Given the description of an element on the screen output the (x, y) to click on. 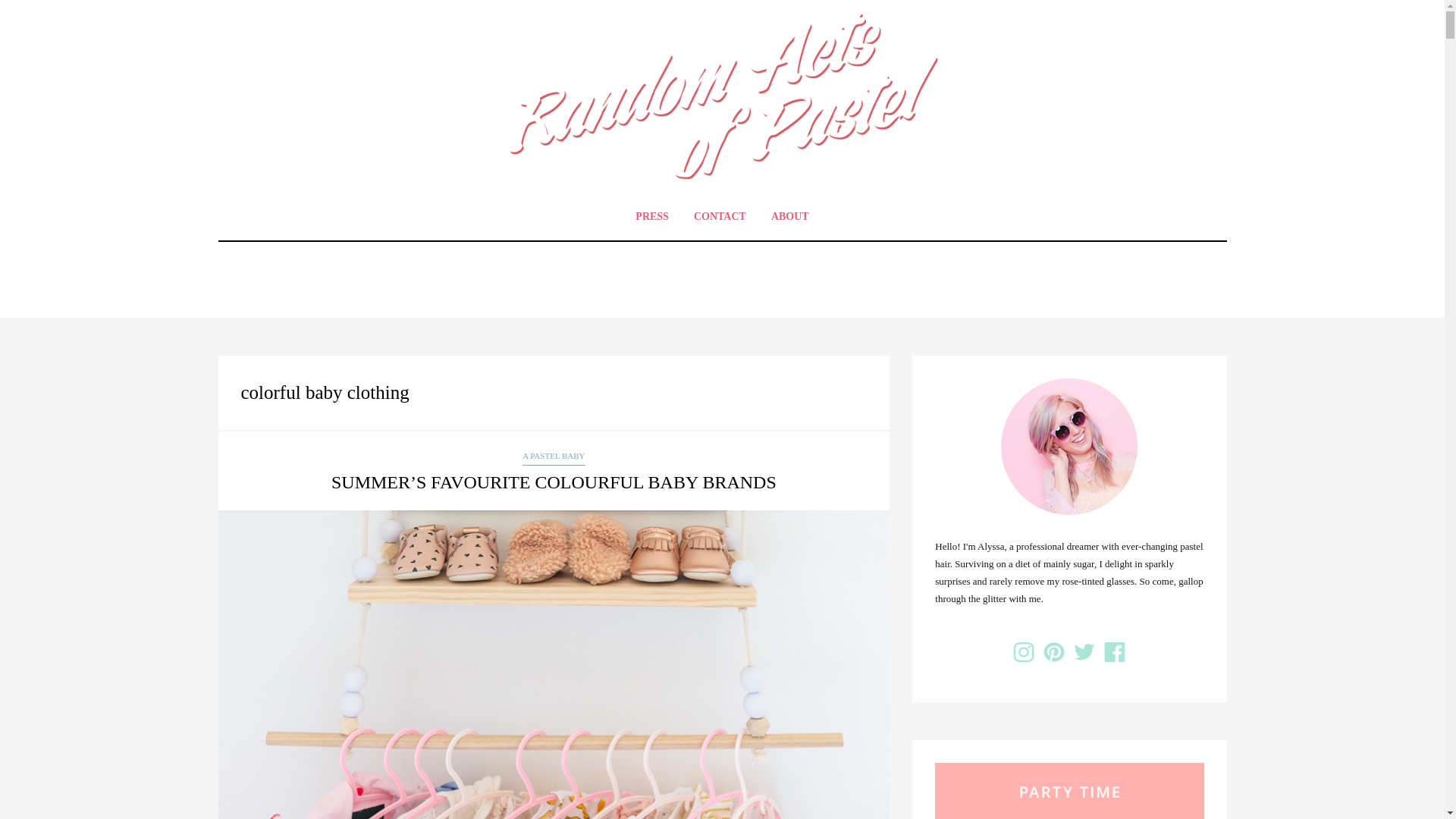
ABOUT (790, 216)
A PASTEL BABY (553, 456)
PRESS (651, 216)
CONTACT (719, 216)
